Given the description of an element on the screen output the (x, y) to click on. 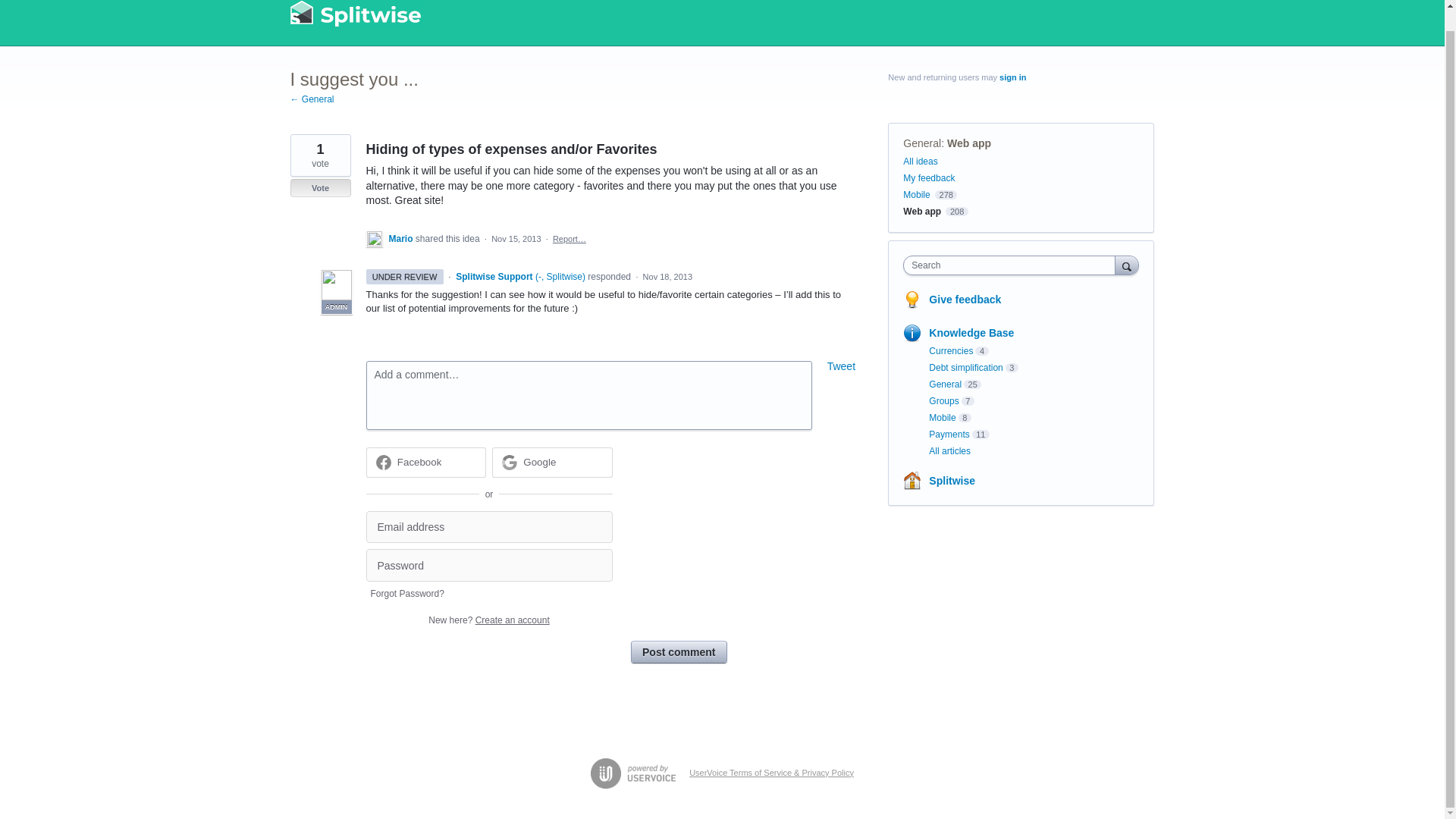
Facebook (419, 461)
UNDER REVIEW (403, 276)
Facebook (425, 462)
Forgot Password? (406, 593)
sign in (1012, 76)
Post comment (678, 651)
This idea is under review - updated over 10 years ago (403, 276)
View all ideas in category Mobile (916, 194)
Mario (401, 238)
New here? Create an account (488, 620)
Vote (319, 188)
Facebook sign in (425, 462)
Skip to content (12, 2)
Google (539, 461)
Tweet (841, 366)
